Given the description of an element on the screen output the (x, y) to click on. 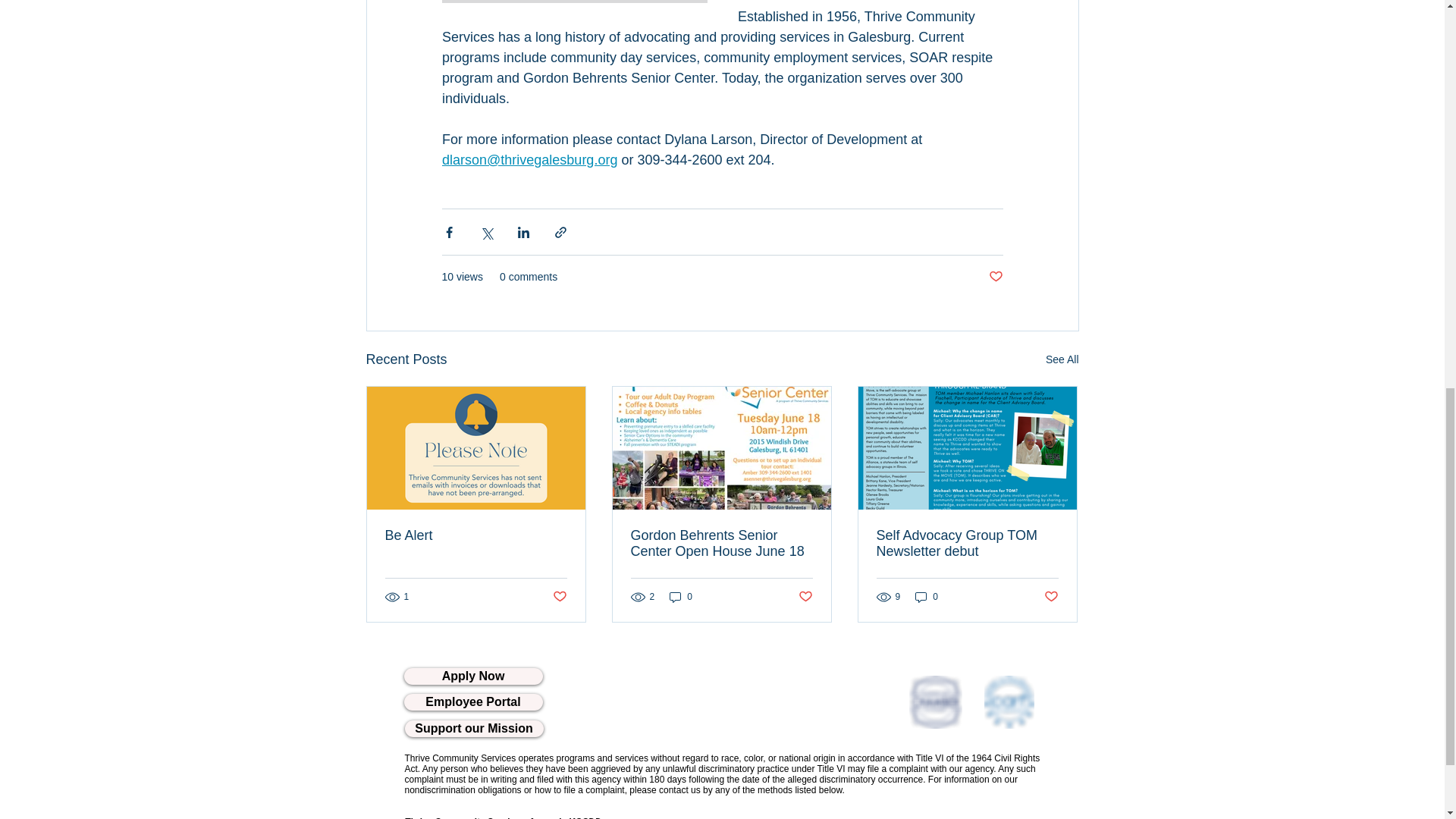
See All (1061, 359)
Gordon Behrents Senior Center Open House June 18 (721, 543)
Carf logo.png (1008, 701)
0 (681, 596)
Post not marked as liked (804, 596)
Be Alert (476, 535)
Post not marked as liked (995, 277)
chamberlogo.png (934, 701)
Post not marked as liked (558, 596)
